Given the description of an element on the screen output the (x, y) to click on. 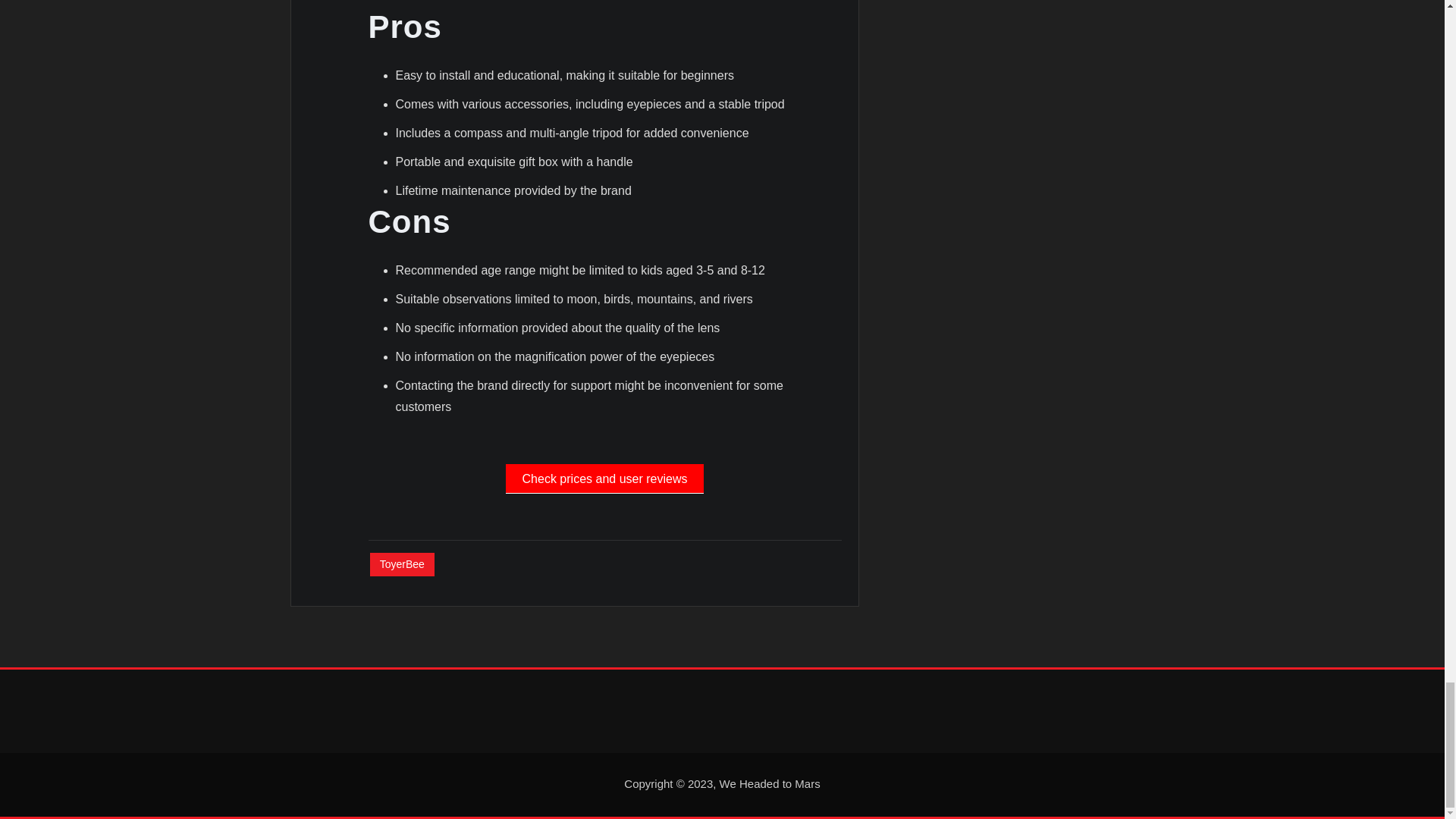
ToyerBee (402, 564)
Check prices and user reviews (604, 478)
